Given the description of an element on the screen output the (x, y) to click on. 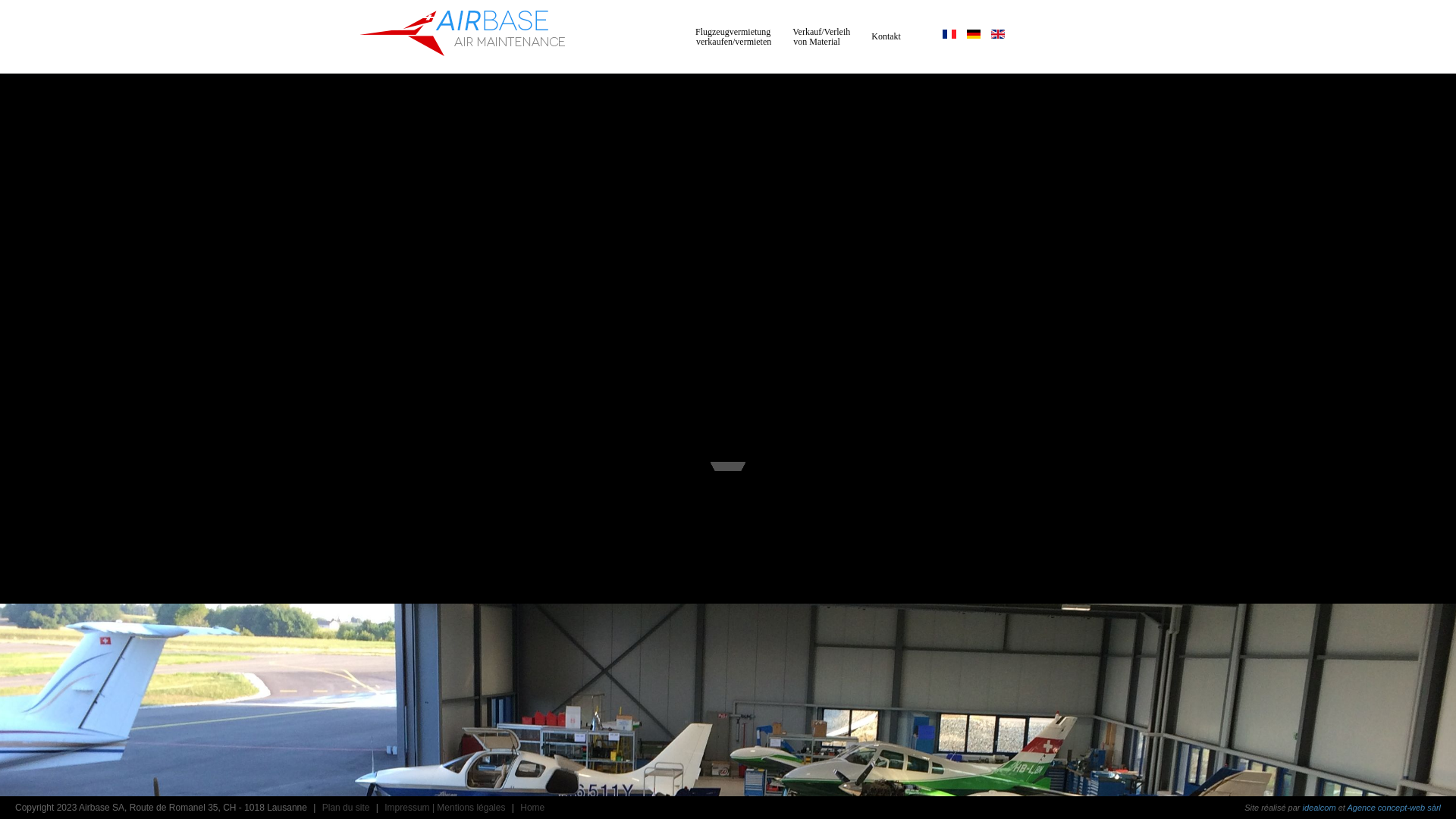
English Element type: hover (997, 32)
idealcom Element type: text (1319, 807)
Home Element type: text (532, 807)
Verkauf/Verleih
von Material Element type: text (821, 35)
Deutsch Element type: hover (973, 32)
Flugzeugvermietung
verkaufen/vermieten Element type: text (733, 35)
Kontakt Element type: text (885, 35)
Plan du site Element type: text (346, 807)
